Given the description of an element on the screen output the (x, y) to click on. 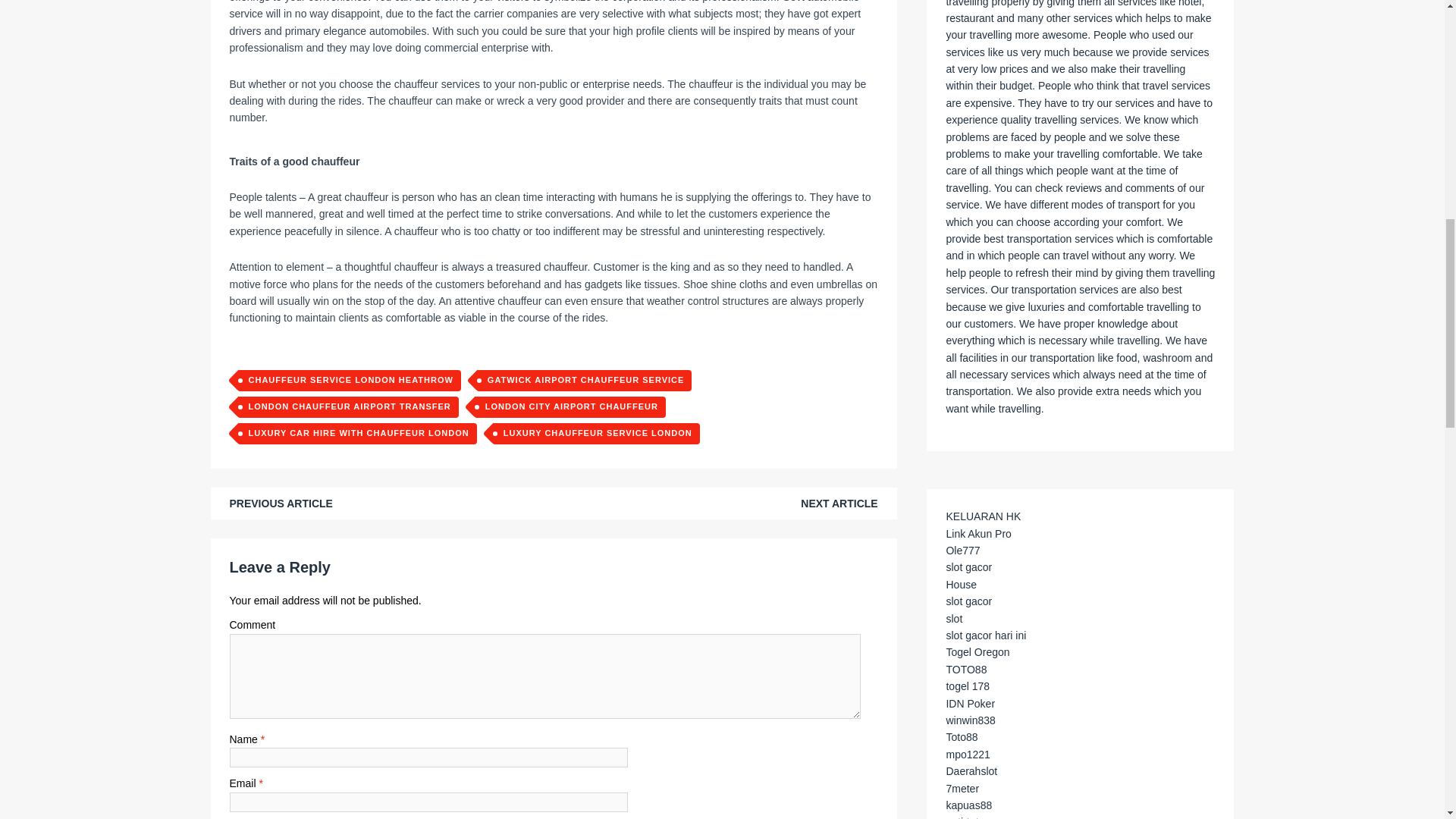
KELUARAN HK (982, 516)
Ole777 (961, 550)
LONDON CITY AIRPORT CHAUFFEUR (569, 406)
LONDON CHAUFFEUR AIRPORT TRANSFER (346, 406)
Link Akun Pro (977, 533)
LUXURY CAR HIRE WITH CHAUFFEUR LONDON (355, 433)
LUXURY CHAUFFEUR SERVICE LONDON (596, 433)
GATWICK AIRPORT CHAUFFEUR SERVICE (584, 380)
NEXT ARTICLE (838, 503)
PREVIOUS ARTICLE (279, 503)
